Given the description of an element on the screen output the (x, y) to click on. 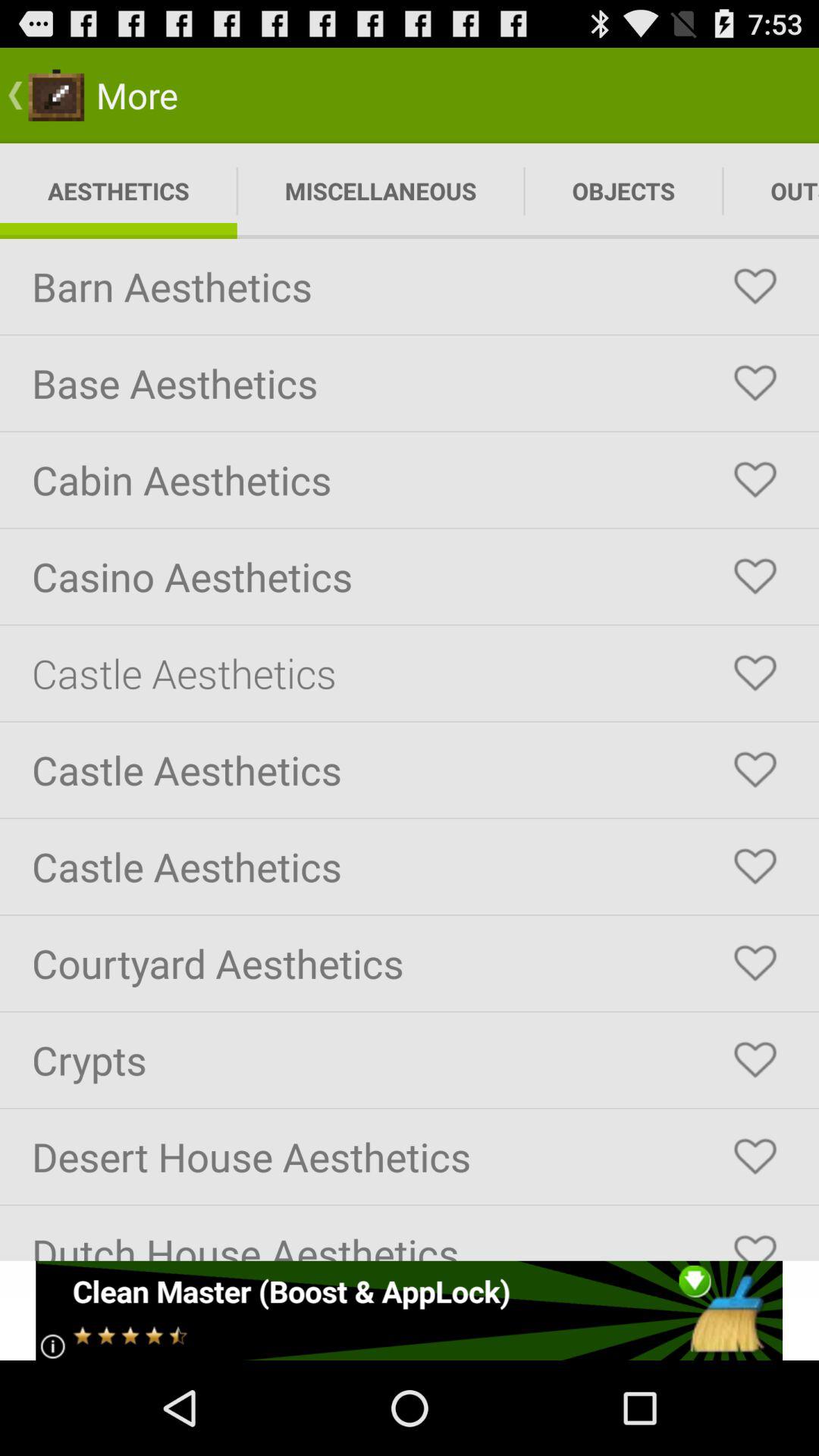
favorite (755, 286)
